Given the description of an element on the screen output the (x, y) to click on. 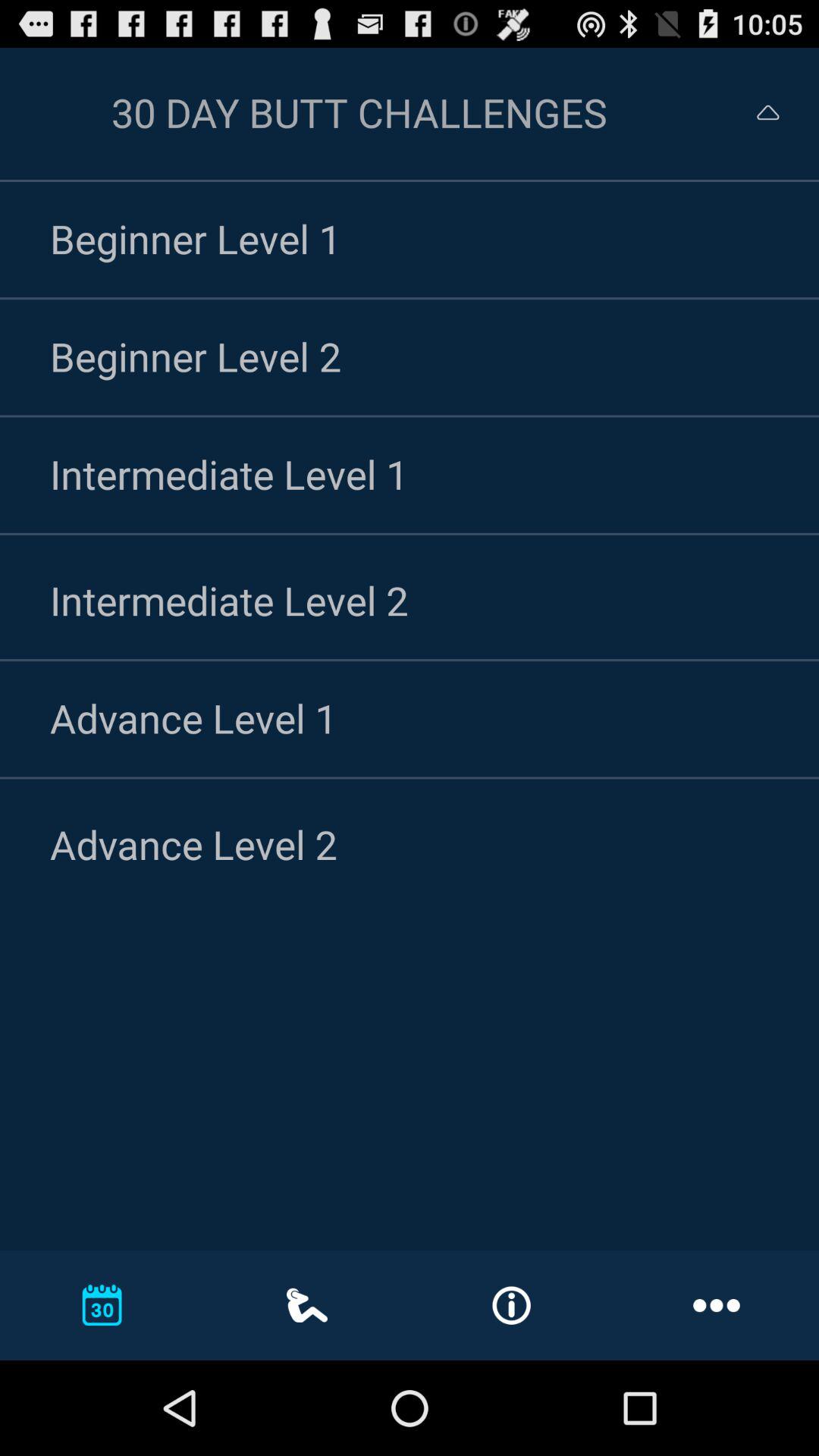
click on the first icon at the left bottom corner (102, 1304)
select the symbol which is to the right of 30 day butt challenges (754, 111)
click on caret symbol which is on the right side of 30 day butt challenges (767, 111)
click on the icon beside calendar (306, 1305)
